Given the description of an element on the screen output the (x, y) to click on. 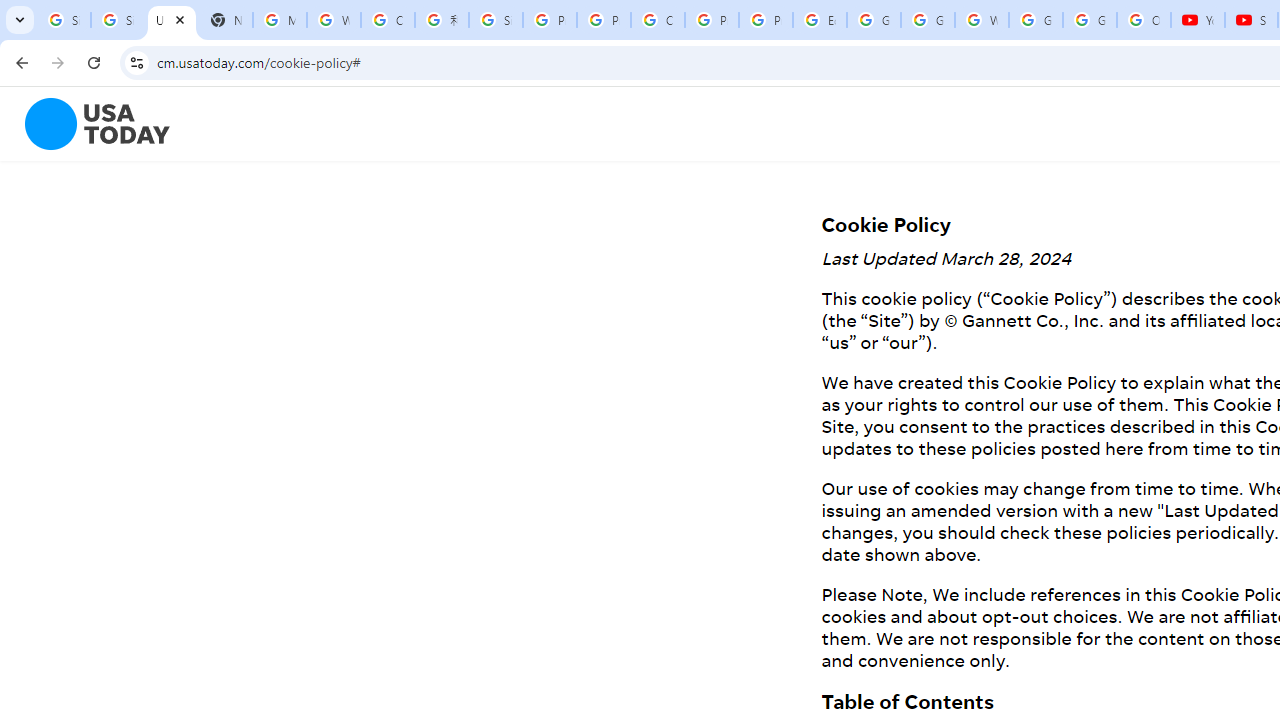
Create your Google Account (387, 20)
Sign in - Google Accounts (117, 20)
Sign in - Google Accounts (495, 20)
USA TODAY (171, 20)
